Given the description of an element on the screen output the (x, y) to click on. 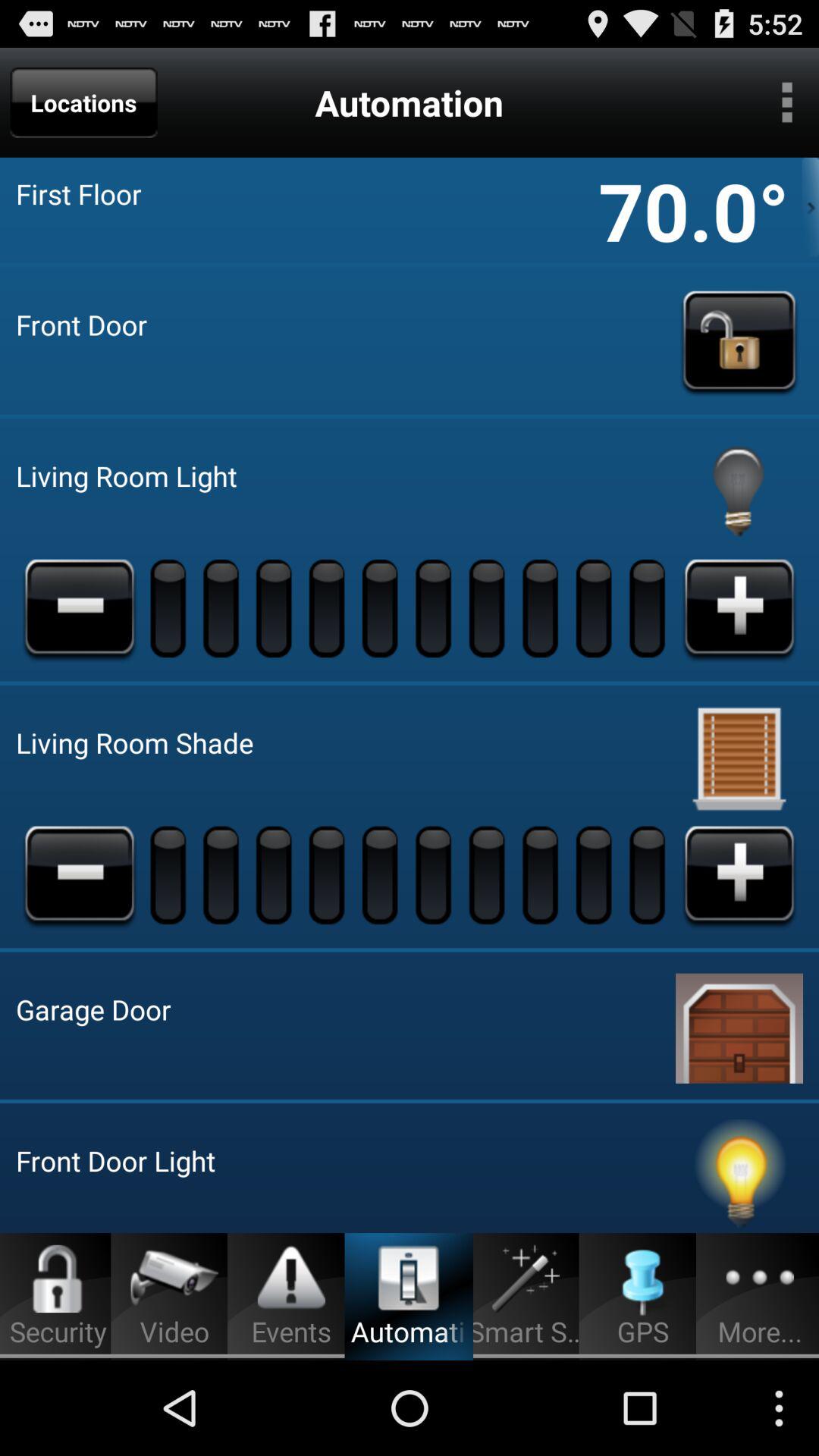
automate living room shade (739, 758)
